Given the description of an element on the screen output the (x, y) to click on. 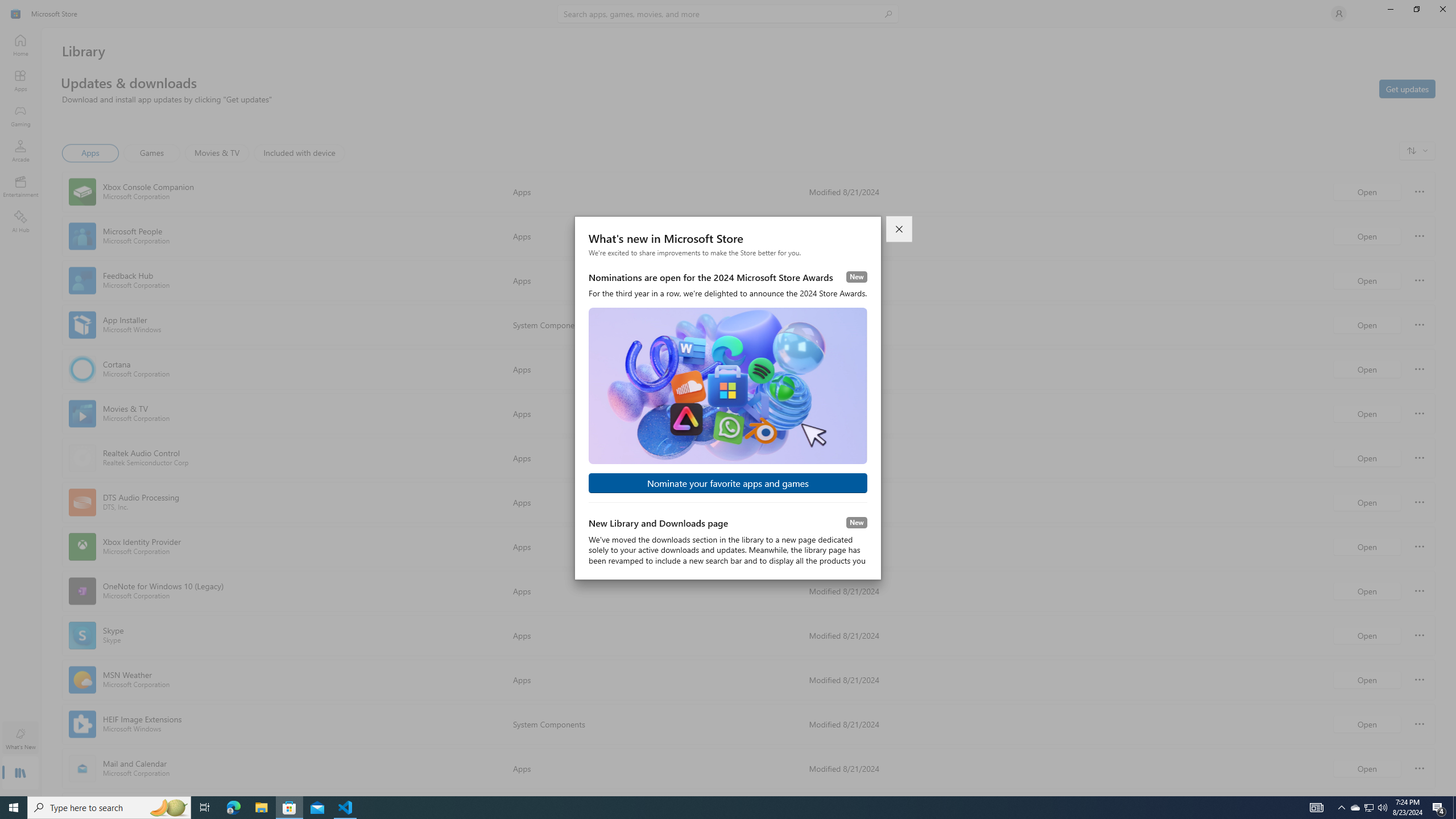
Search (727, 13)
Get updates (1406, 88)
Apps (20, 80)
Library (20, 773)
What's New (20, 738)
Minimize Microsoft Store (1390, 9)
Sort and filter (1417, 149)
Included with device (299, 153)
Close dialog (899, 229)
User profile (1338, 13)
AI Hub (20, 221)
Class: Image (15, 13)
Nominate your favorite apps and games (727, 483)
Movies & TV (216, 153)
Close Microsoft Store (1442, 9)
